Given the description of an element on the screen output the (x, y) to click on. 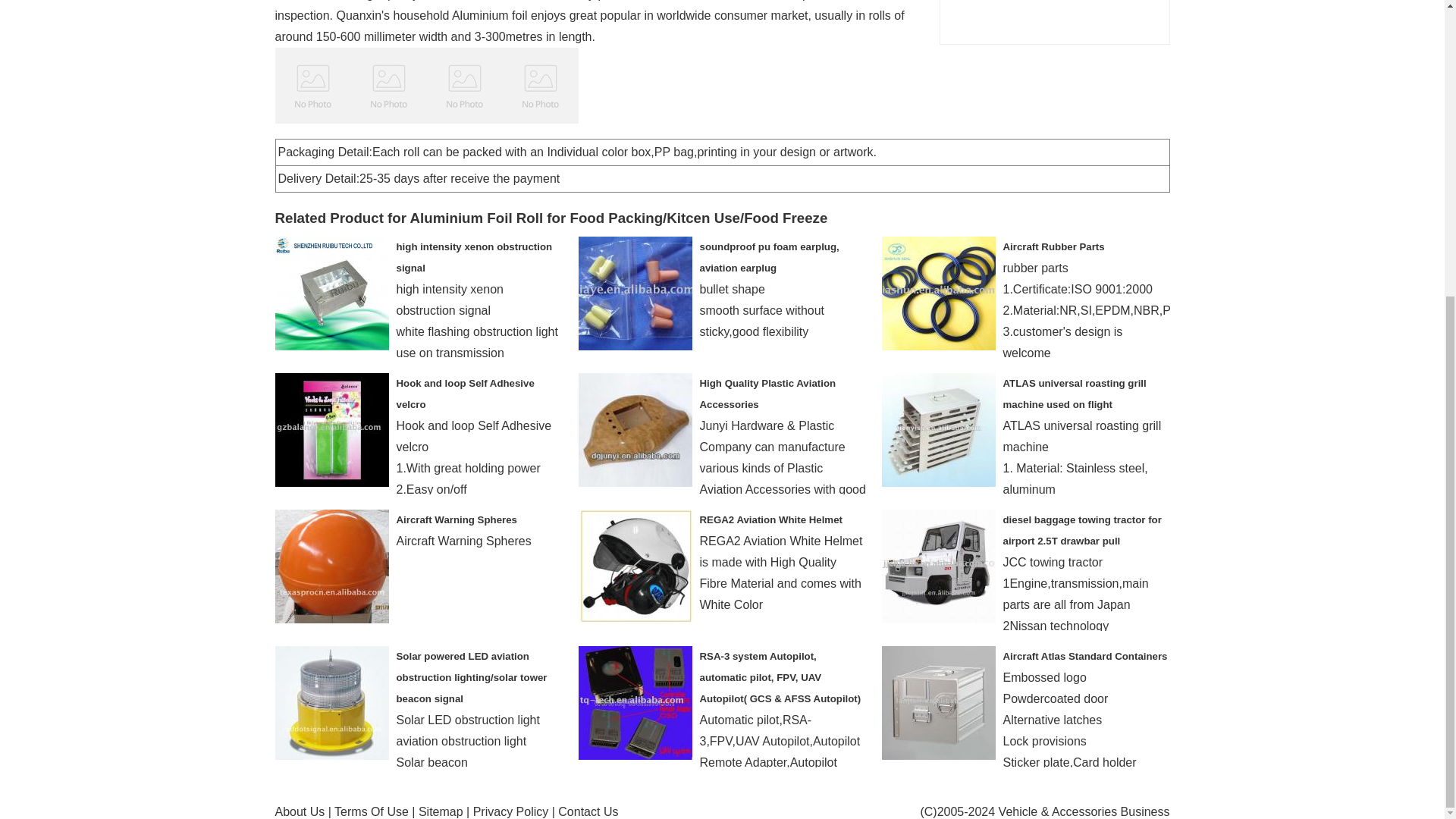
Terms Of Use (371, 811)
Contact Us (587, 811)
soundproof pu foam earplug, aviation earplug (768, 256)
ATLAS universal roasting grill machine used on flight (1074, 393)
Aircraft Rubber Parts (1053, 246)
high intensity xenon obstruction signal (473, 256)
High Quality Plastic Aviation Accessories (766, 393)
Aircraft Warning Spheres (456, 519)
Sitemap (441, 811)
diesel baggage towing tractor for airport 2.5T drawbar pull (1081, 530)
About Us (299, 811)
Aircraft Atlas Standard Containers (1085, 655)
Privacy Policy (510, 811)
Hook and loop Self Adhesive velcro (465, 393)
REGA2 Aviation White Helmet (769, 519)
